Given the description of an element on the screen output the (x, y) to click on. 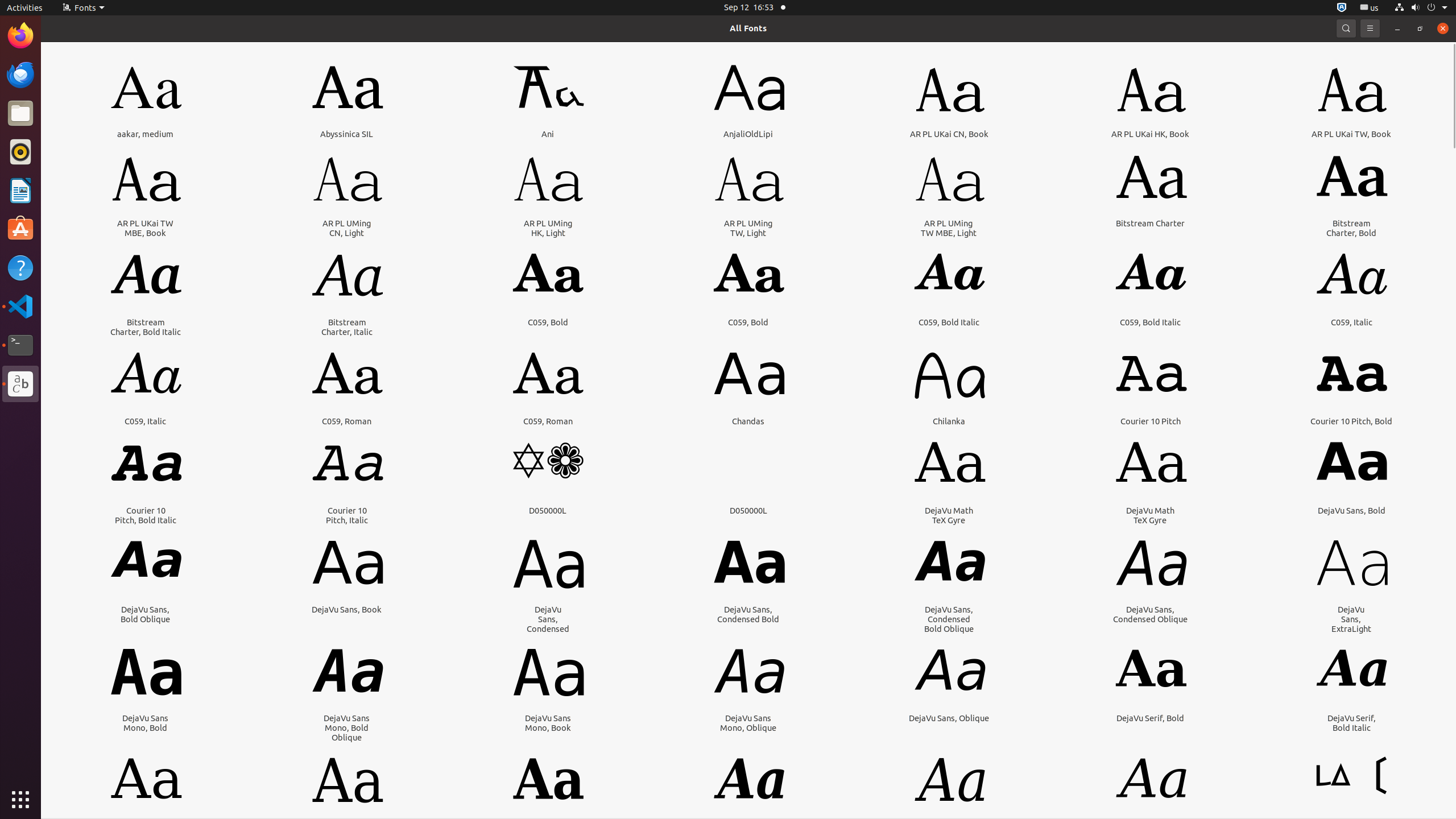
DejaVu Sans Mono, Book Element type: label (547, 722)
Courier 10 Pitch, Bold Element type: label (1351, 420)
DejaVu Sans, Condensed Oblique Element type: label (1150, 613)
